Given the description of an element on the screen output the (x, y) to click on. 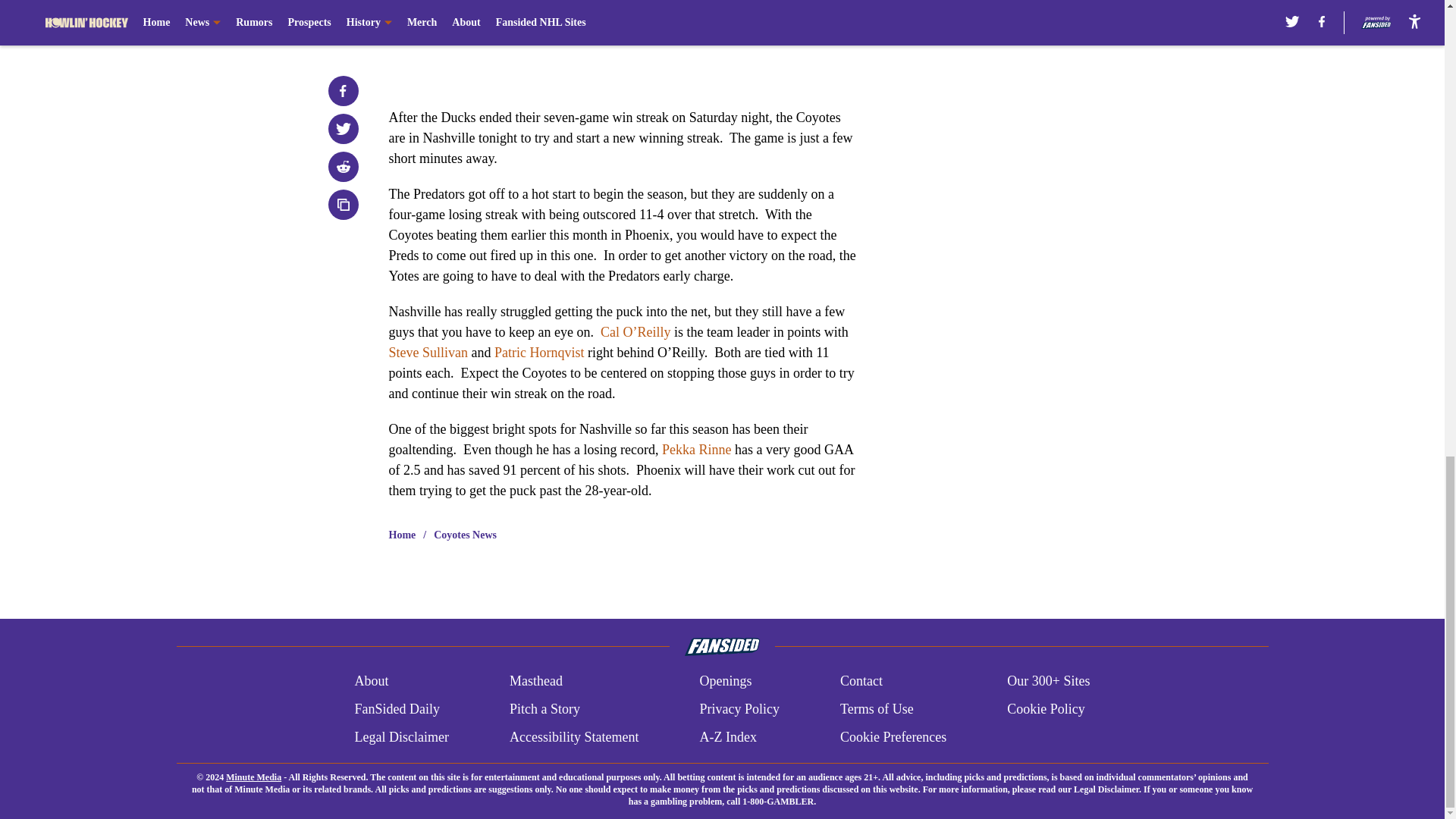
Legal Disclaimer (400, 737)
Cookie Policy (1045, 709)
Openings (724, 680)
Terms of Use (877, 709)
Pekka Rinne (697, 449)
Home (401, 534)
Masthead (535, 680)
FanSided Daily (396, 709)
Privacy Policy (738, 709)
Accessibility Statement (574, 737)
Pitch a Story (544, 709)
About (370, 680)
Contact (861, 680)
Steve Sullivan (427, 352)
Patric Hornqvist (540, 352)
